Given the description of an element on the screen output the (x, y) to click on. 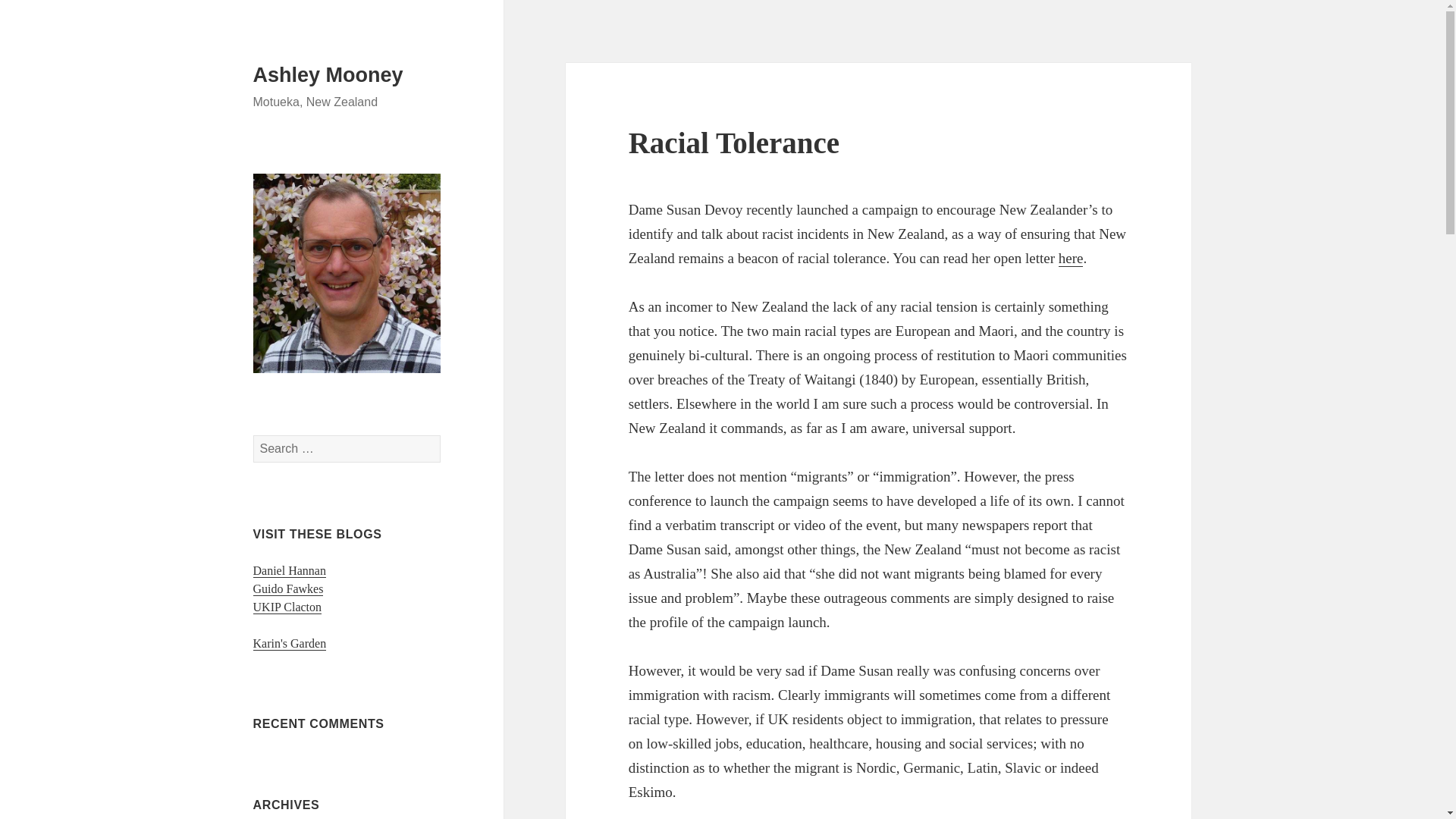
Daniel Hannan (289, 571)
Karin's Garden (289, 643)
UKIP Clacton (287, 607)
Guido Fawkes (288, 589)
Ashley Mooney (328, 74)
